Given the description of an element on the screen output the (x, y) to click on. 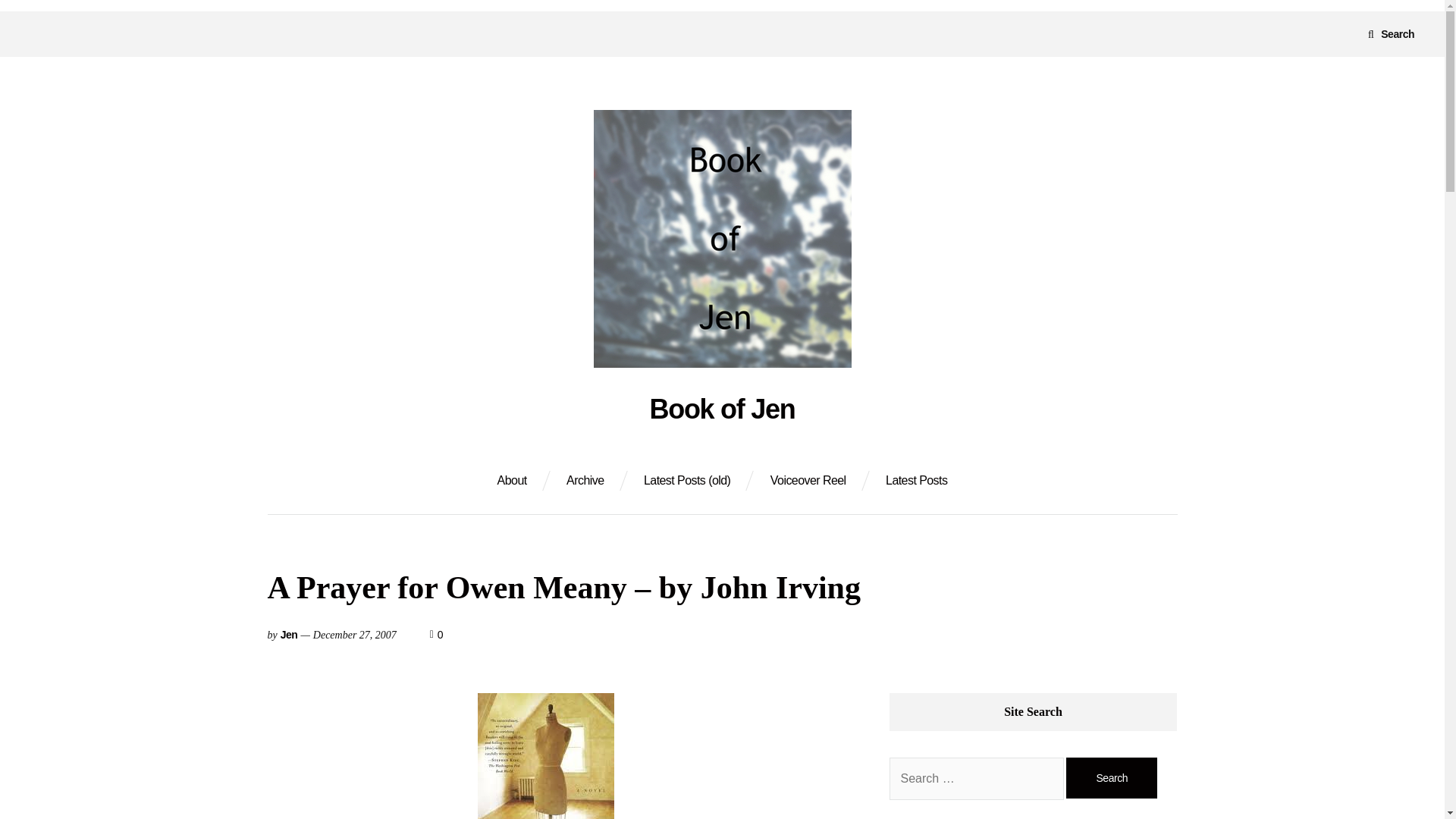
About (512, 480)
Search (1111, 777)
Search (1111, 777)
Latest Posts (916, 480)
Search (1390, 33)
Jen (289, 634)
Book of Jen (721, 409)
Archive (585, 480)
Search (1111, 777)
Voiceover Reel (807, 480)
